Given the description of an element on the screen output the (x, y) to click on. 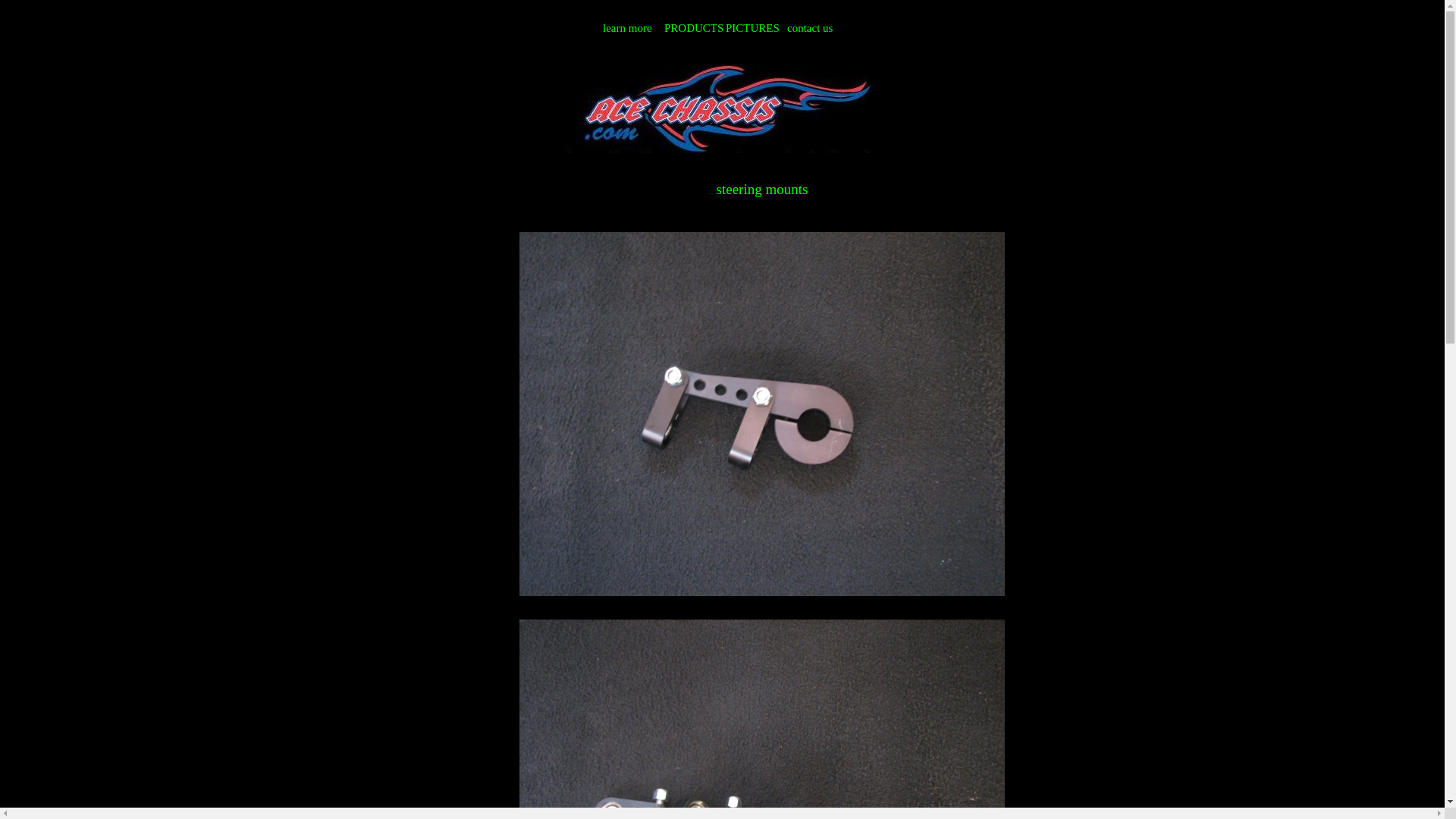
learn more (628, 28)
learn more (628, 28)
PRODUCTS (690, 28)
